Given the description of an element on the screen output the (x, y) to click on. 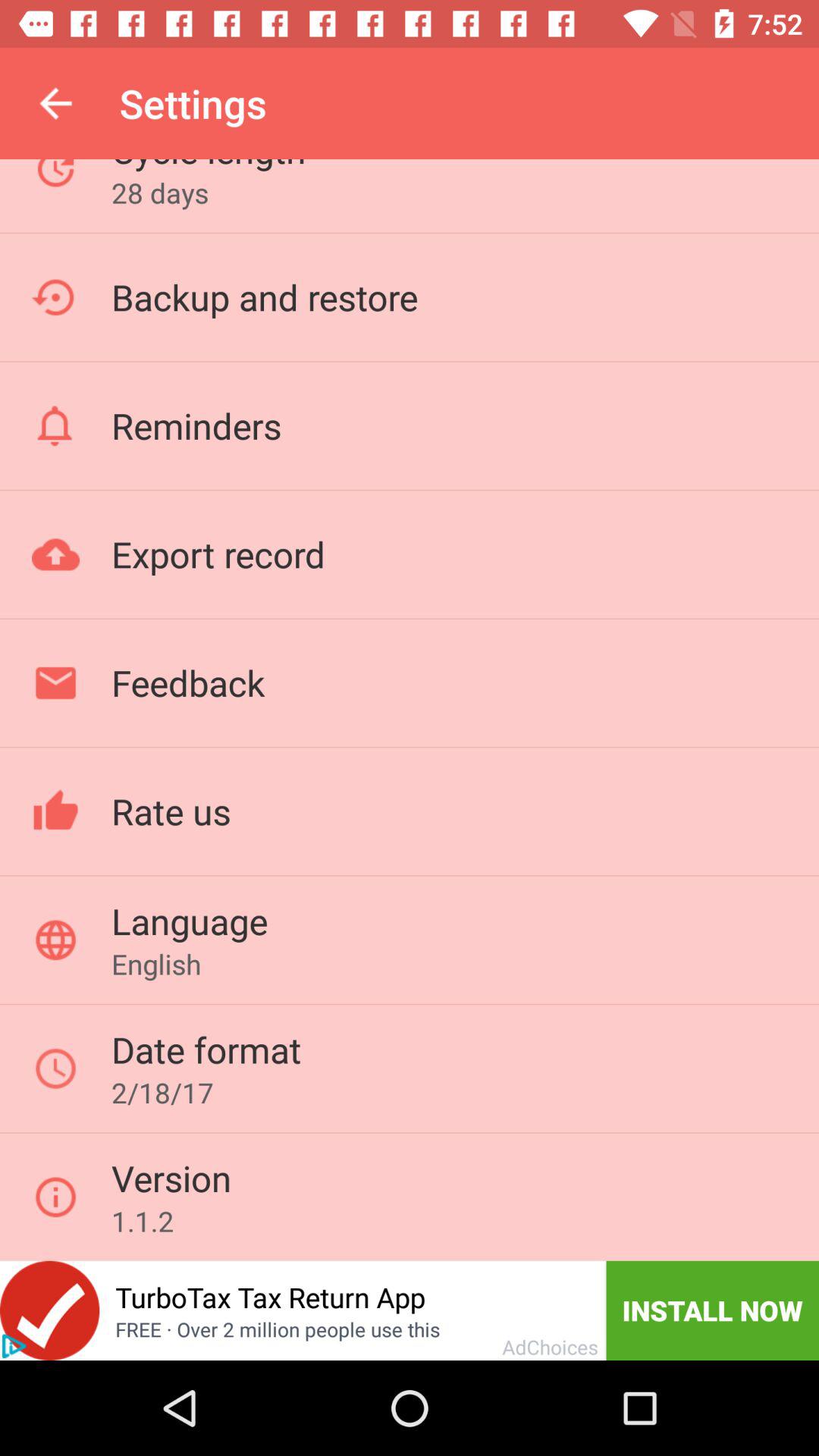
tap item to the left of cycle length item (55, 103)
